Given the description of an element on the screen output the (x, y) to click on. 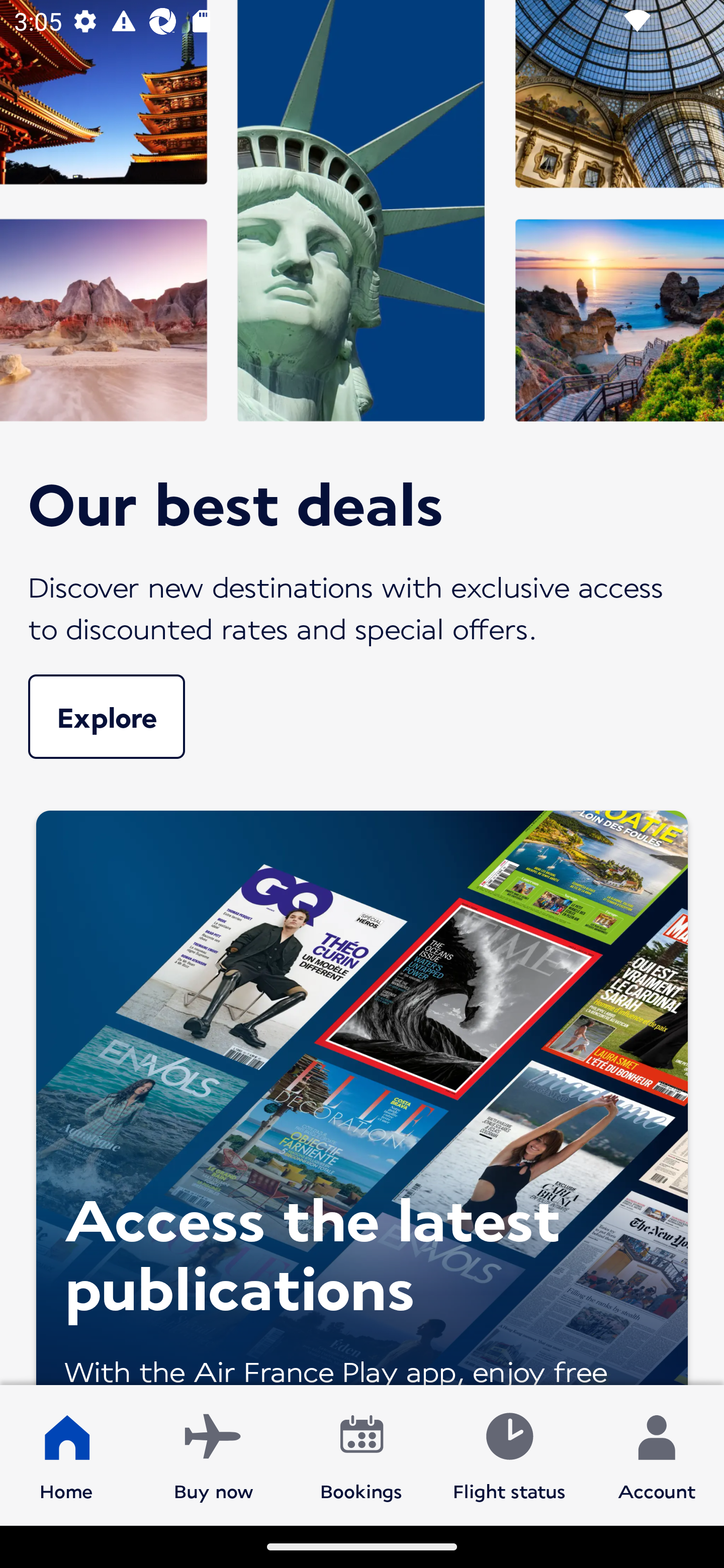
Buy now (213, 1454)
Bookings (361, 1454)
Flight status (509, 1454)
Account (657, 1454)
